Given the description of an element on the screen output the (x, y) to click on. 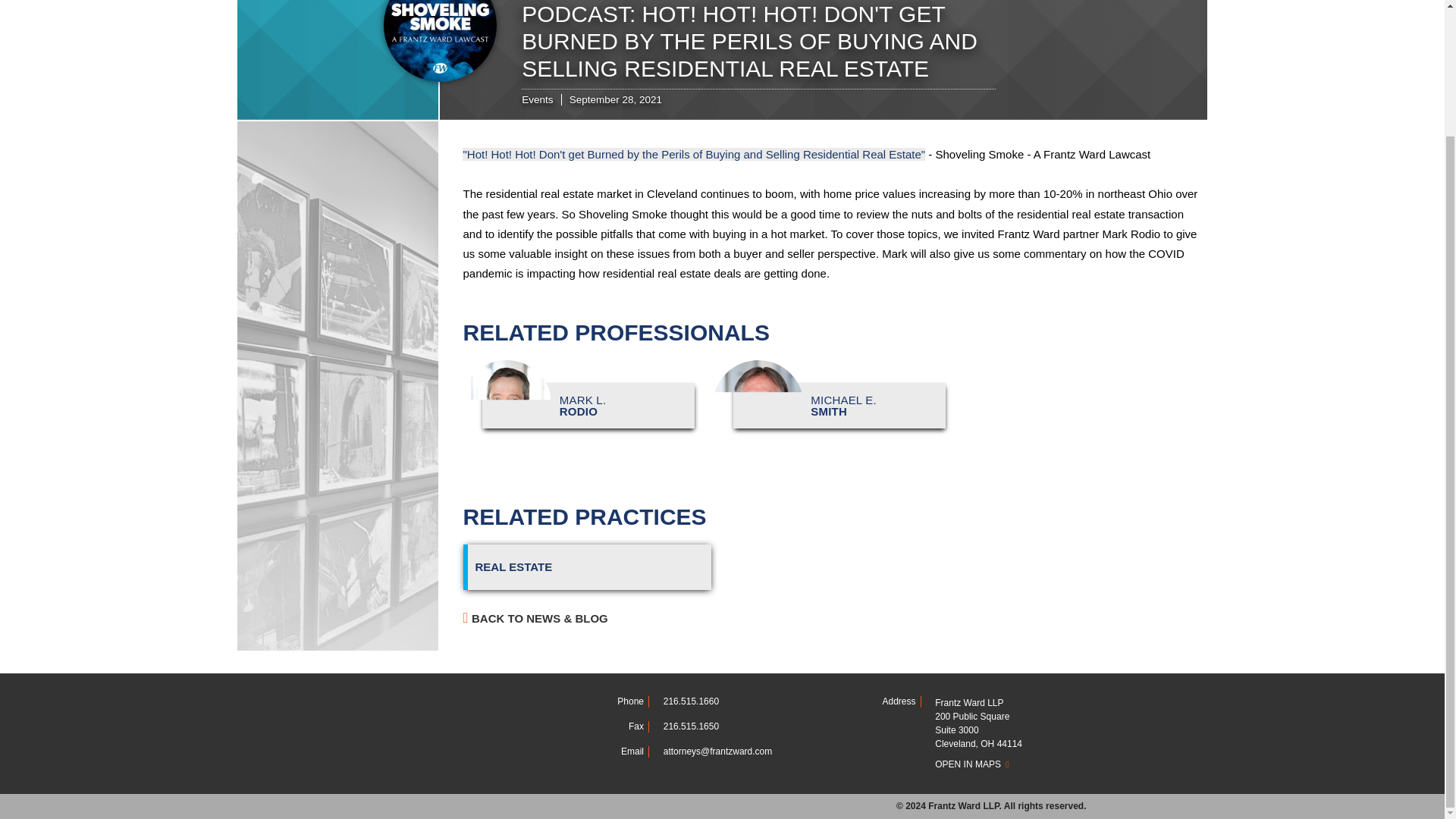
216.515.1660 (691, 701)
REAL ESTATE (831, 405)
OPEN IN MAPS (587, 566)
216.515.1650 (1010, 764)
